Given the description of an element on the screen output the (x, y) to click on. 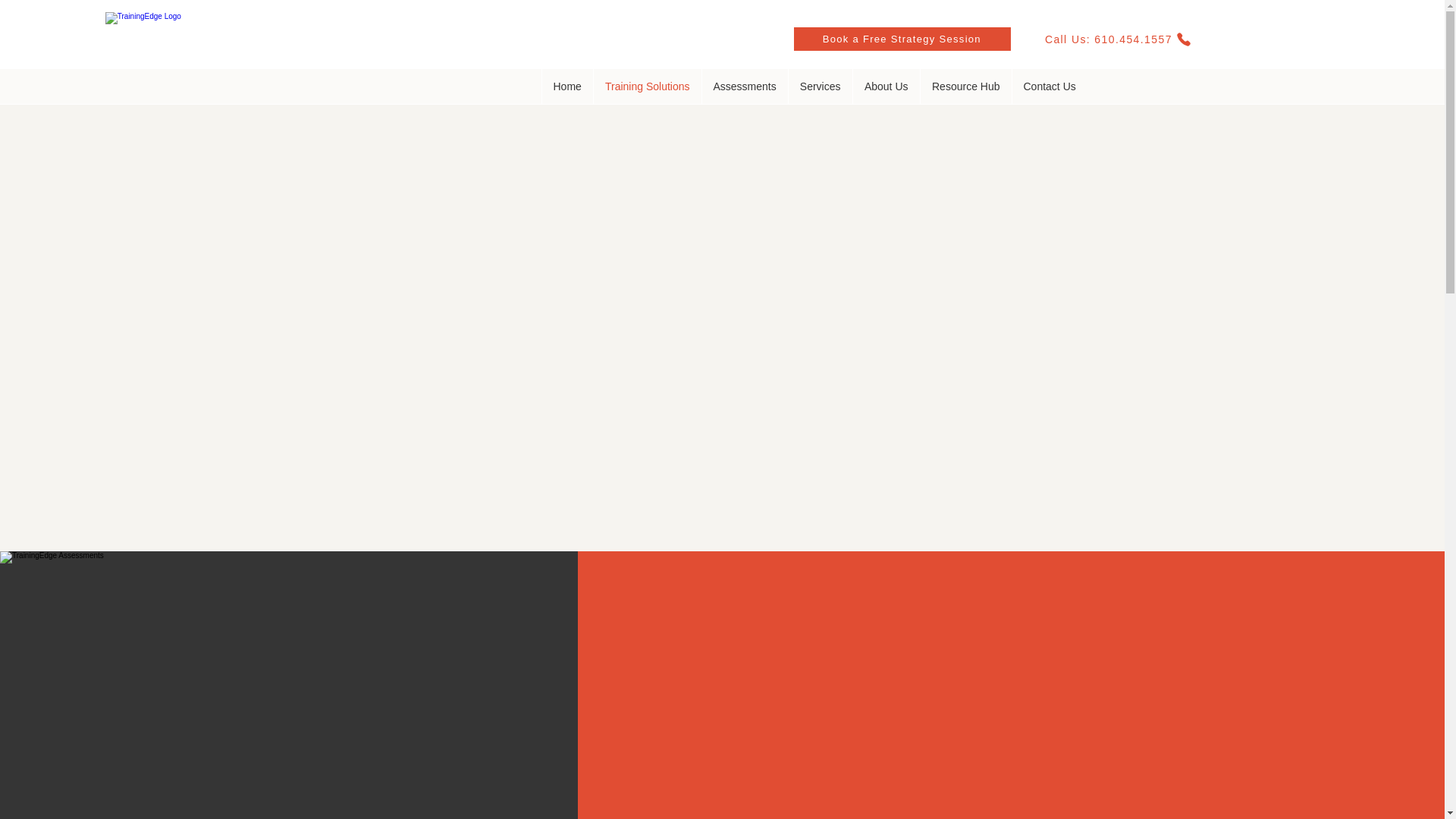
Training Solutions (646, 86)
About Us (885, 86)
Resource Hub (964, 86)
Contact Us (1049, 86)
Home (566, 86)
Services (819, 86)
Assessments (743, 86)
Book a Free Strategy Session (901, 38)
Call Us: 610.454.1557 (1118, 38)
